Given the description of an element on the screen output the (x, y) to click on. 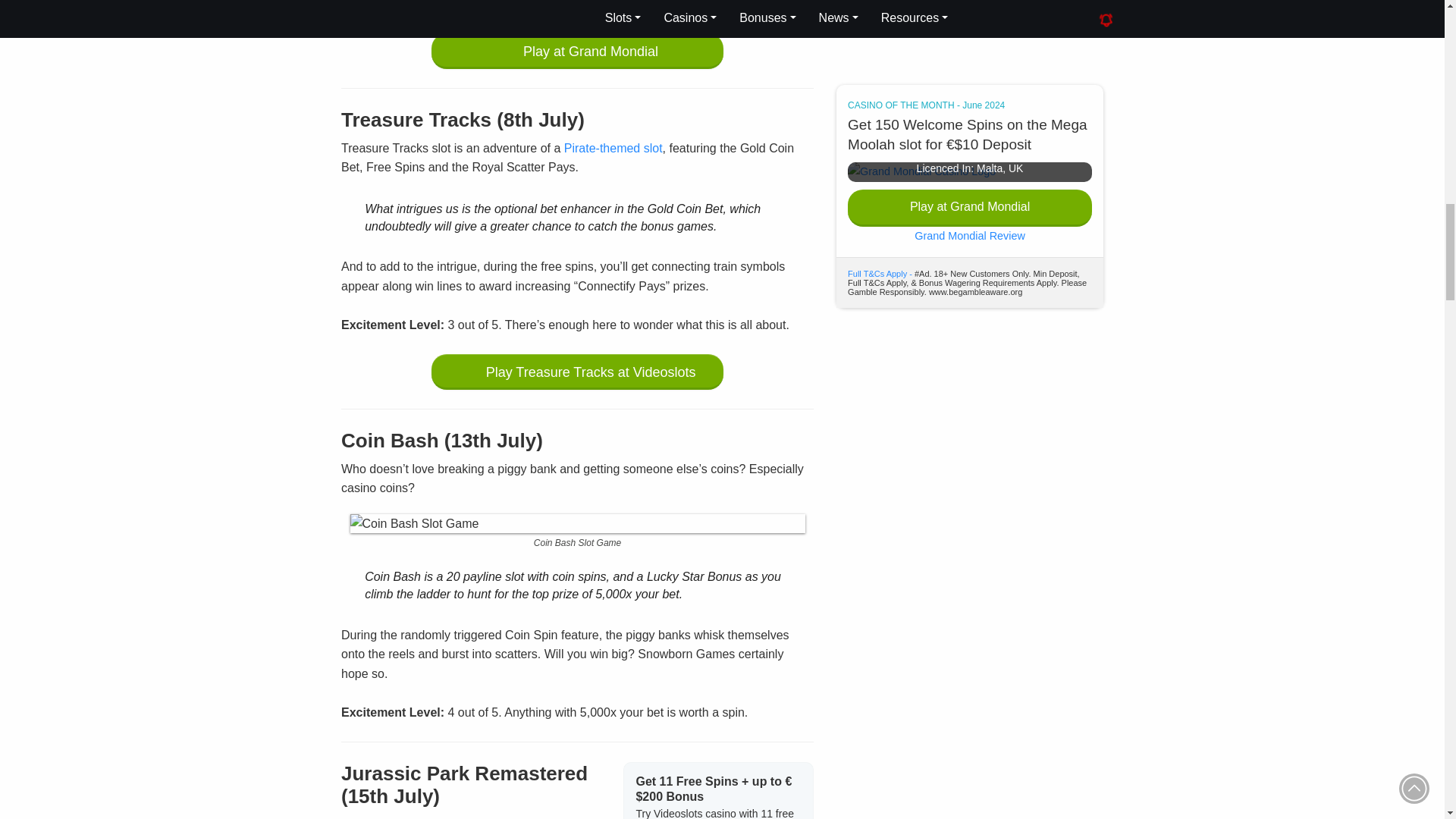
Play at Grand Mondial (576, 50)
Play Treasure Tracks at Videoslots (576, 371)
